Given the description of an element on the screen output the (x, y) to click on. 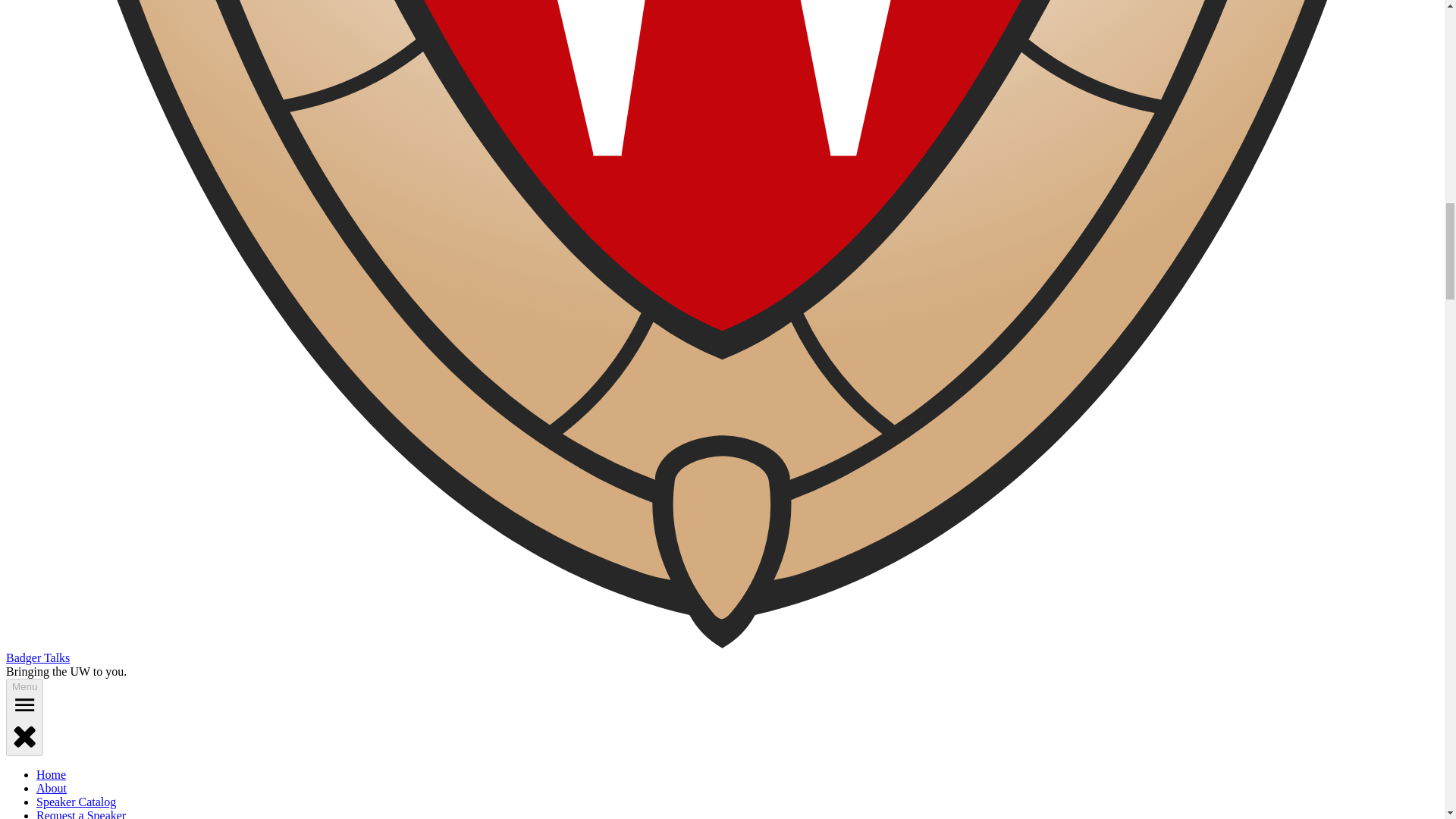
Badger Talks (37, 657)
Request a Speaker (80, 814)
Home (50, 774)
Speaker Catalog (76, 801)
About (51, 788)
open menu (24, 704)
